Given the description of an element on the screen output the (x, y) to click on. 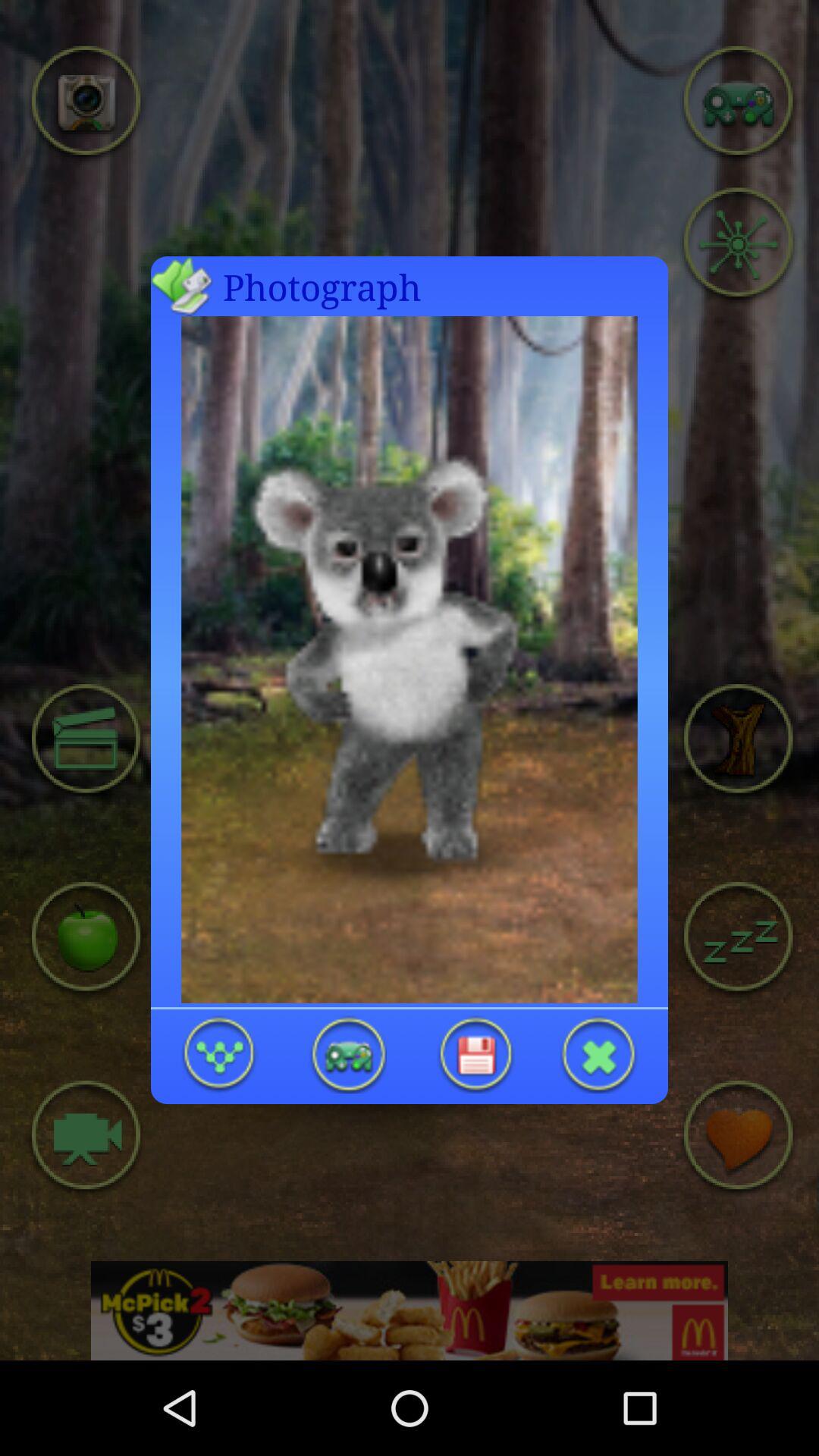
press the icon at the bottom left corner (219, 1054)
